Given the description of an element on the screen output the (x, y) to click on. 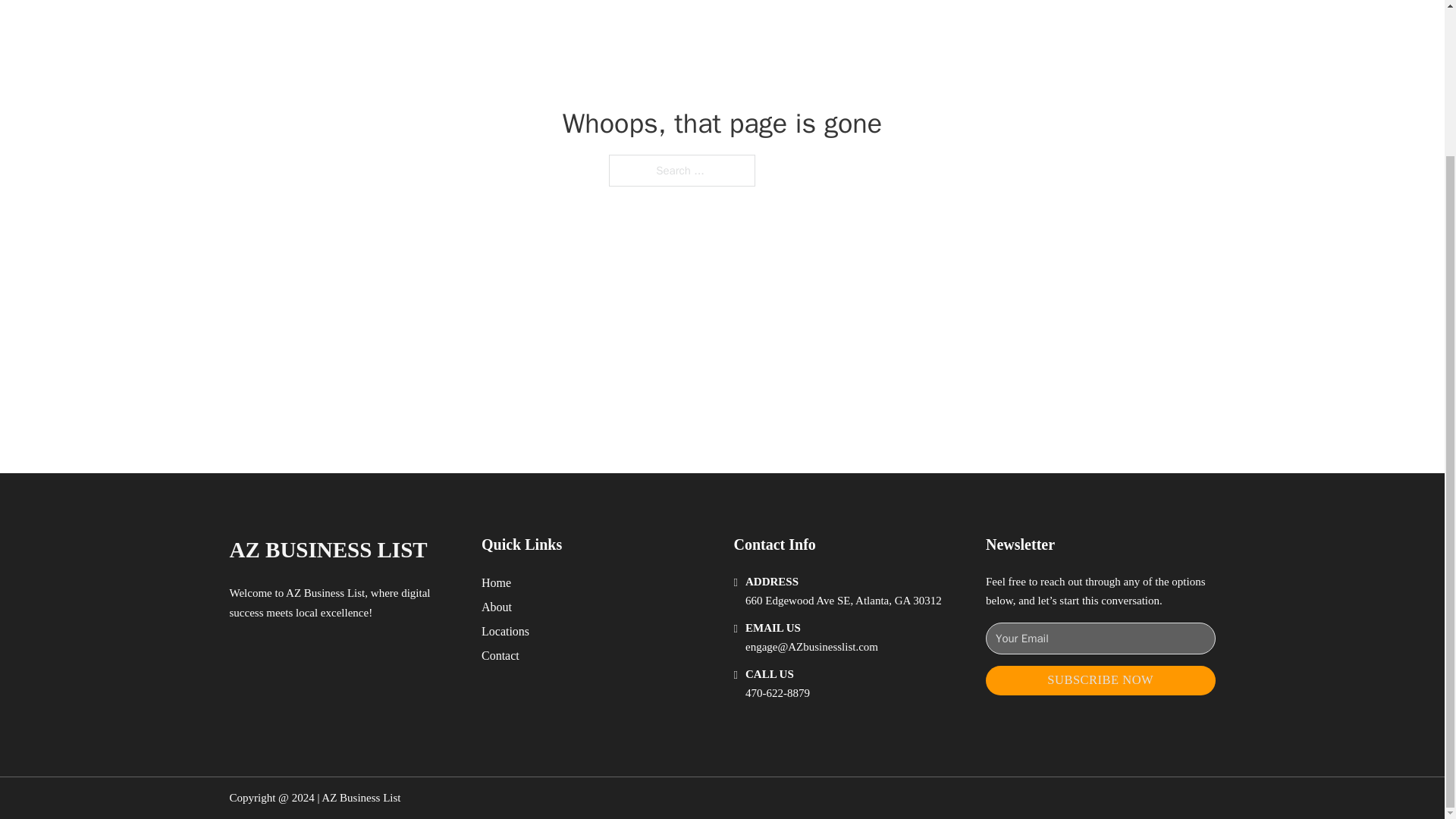
About (496, 607)
Home (496, 582)
SUBSCRIBE NOW (1100, 680)
Locations (505, 630)
470-622-8879 (777, 693)
AZ BUSINESS LIST (327, 549)
Contact (500, 655)
